Given the description of an element on the screen output the (x, y) to click on. 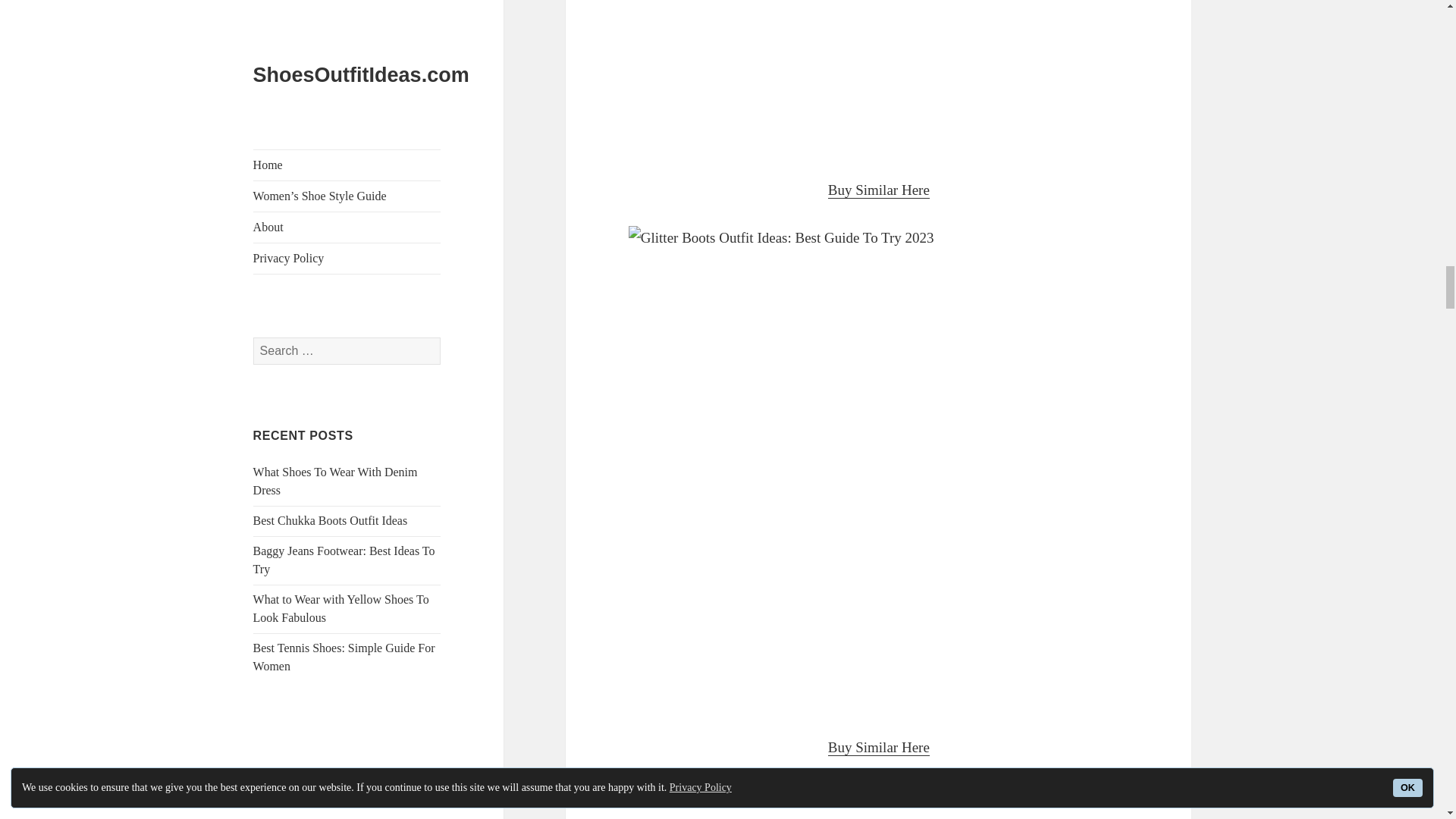
Glitter Boots Outfit Ideas: Best Guide To Try 2023 (878, 76)
Buy Similar Here (879, 190)
Glitter Boots Outfit Ideas: Best Guide To Try 2023 (878, 801)
Buy Similar Here (879, 747)
